Given the description of an element on the screen output the (x, y) to click on. 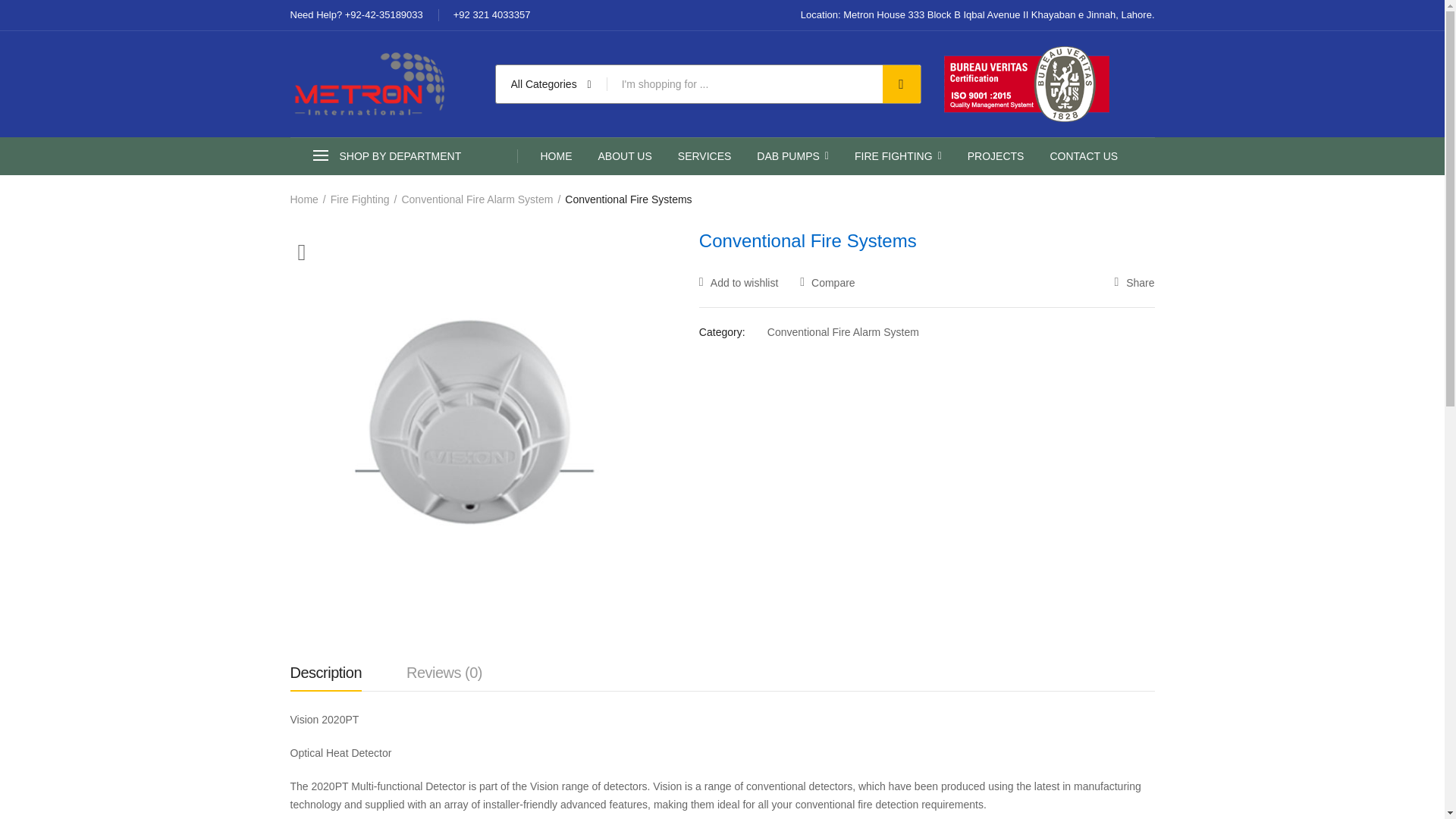
FIRE FIGHTING (898, 156)
SHOP BY DEPARTMENT (402, 156)
SERVICES (705, 156)
DAB PUMPS (792, 156)
ABOUT US (623, 156)
All Categories (551, 84)
